Given the description of an element on the screen output the (x, y) to click on. 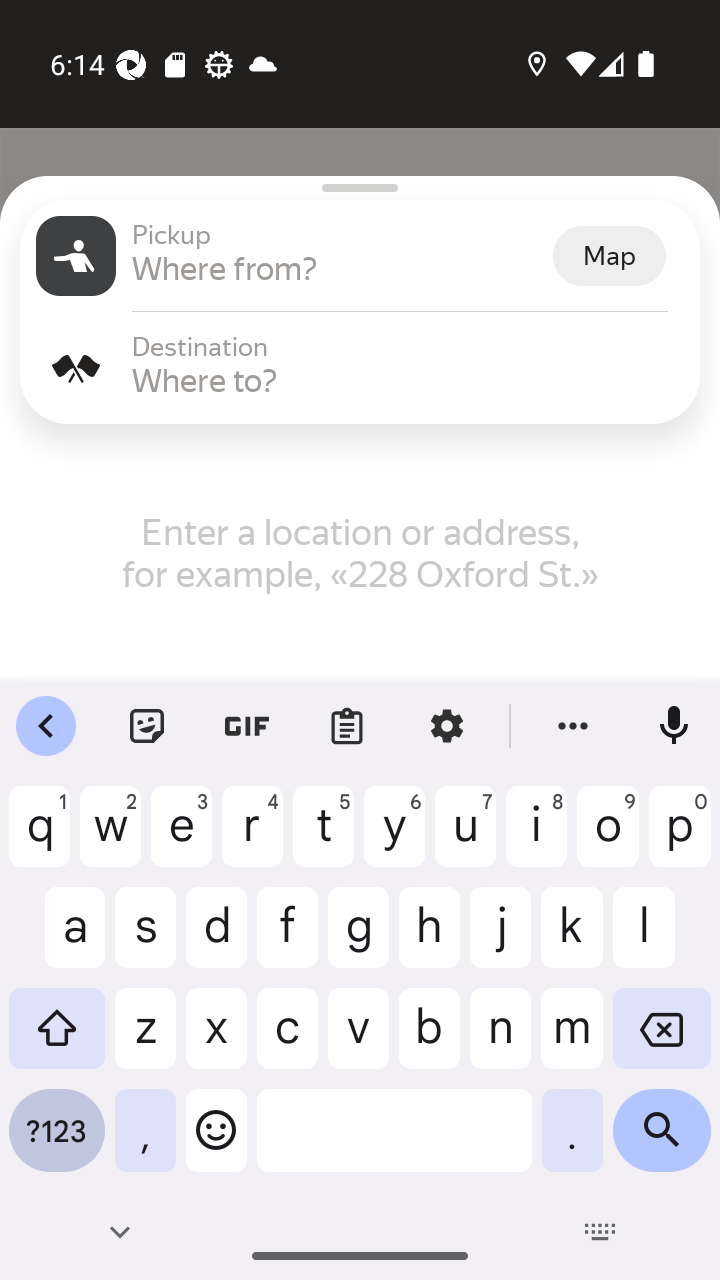
Pickup Pickup Where from? Map (359, 255)
Map (609, 256)
Where from? (340, 268)
Destination Destination Where to? (359, 367)
Where to? (407, 380)
